Given the description of an element on the screen output the (x, y) to click on. 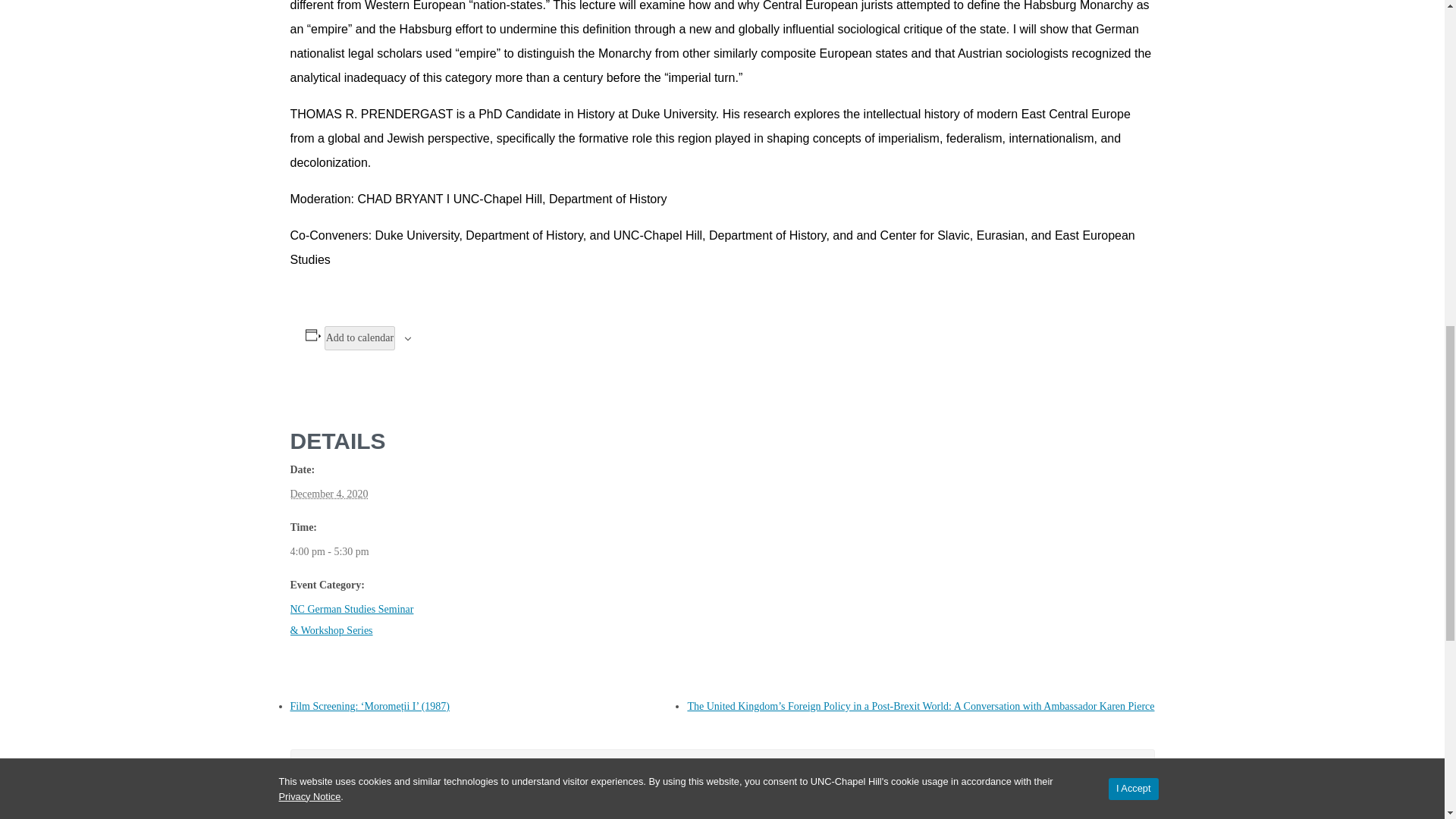
2020-12-04 (328, 494)
2020-12-04 (328, 551)
